Given the description of an element on the screen output the (x, y) to click on. 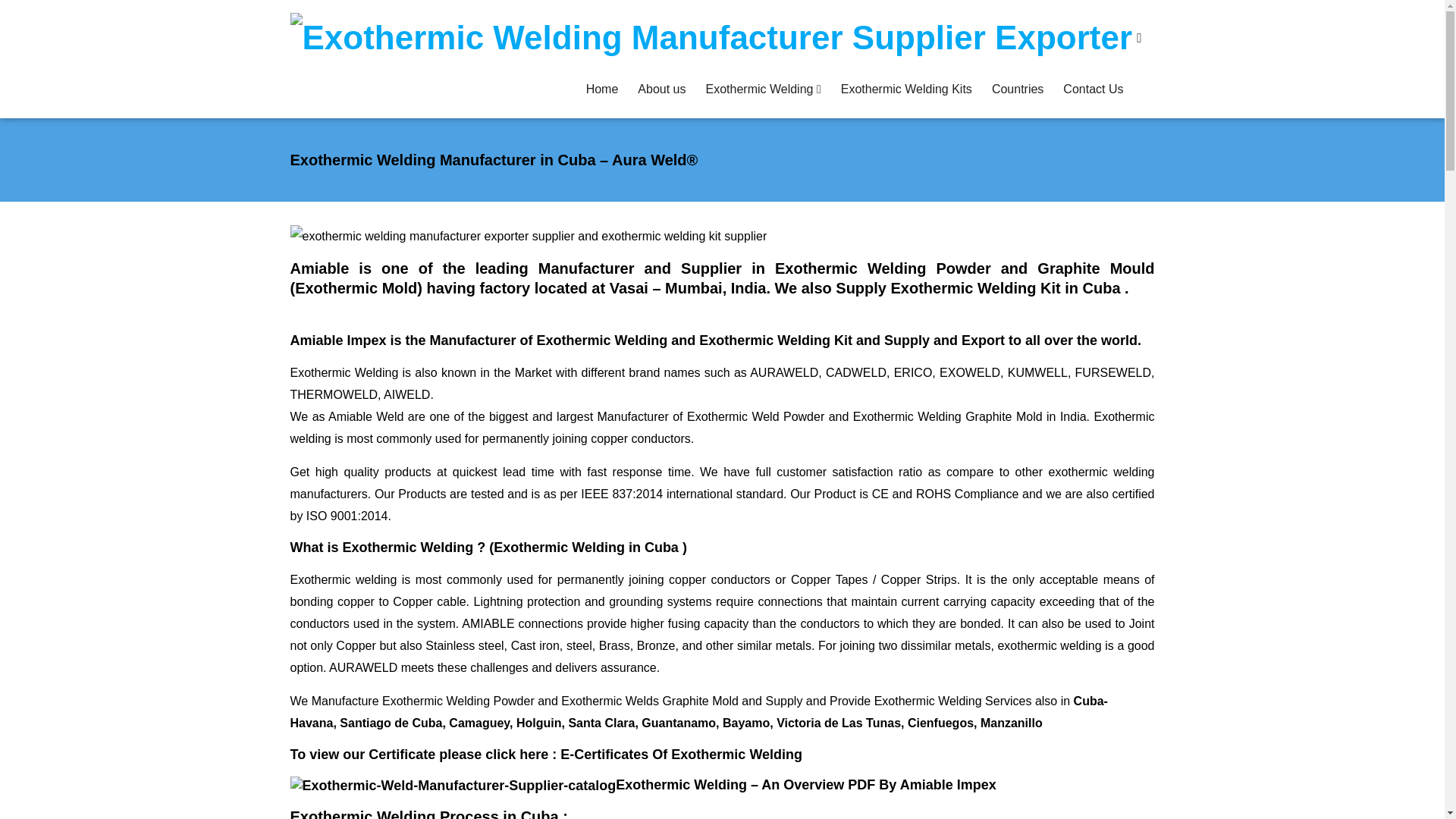
Contact Us (1092, 89)
Exothermic Welding Kits (905, 89)
Contact Us (1092, 89)
Countries (1017, 89)
Home (602, 89)
About us (661, 89)
Home (602, 89)
Countries (1017, 89)
Exothermic Welding Kits (905, 89)
About us (661, 89)
Exothermic Welding Manufacturer Supplier Exporter (710, 38)
Exothermic Welding (762, 89)
Exothermic Welding (762, 89)
E-Certificates Of Exothermic Welding (681, 754)
